Given the description of an element on the screen output the (x, y) to click on. 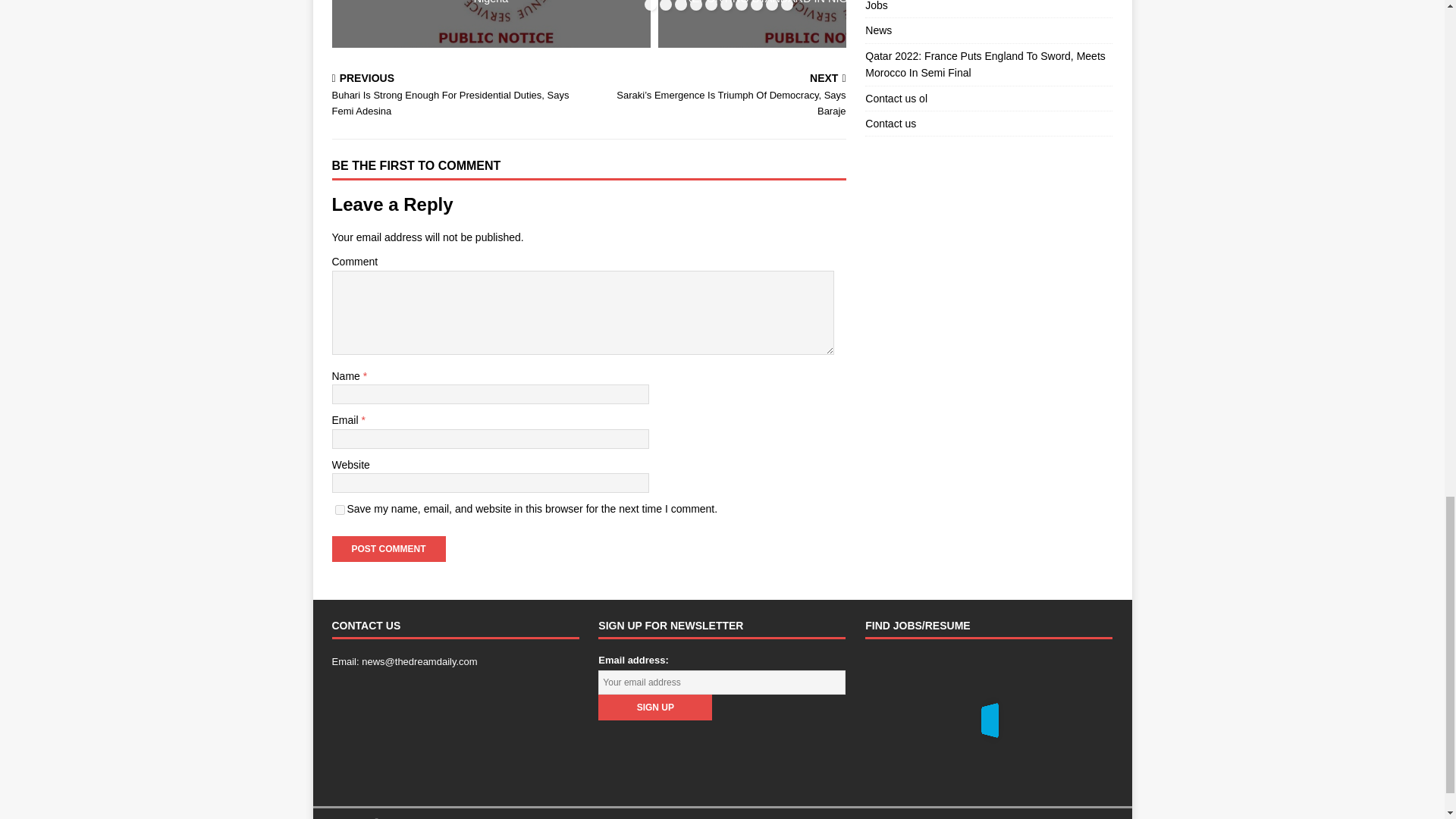
FIRS public notice (490, 24)
yes (339, 510)
FIRS public notice (817, 24)
Sign up (654, 707)
Post Comment (388, 548)
